Given the description of an element on the screen output the (x, y) to click on. 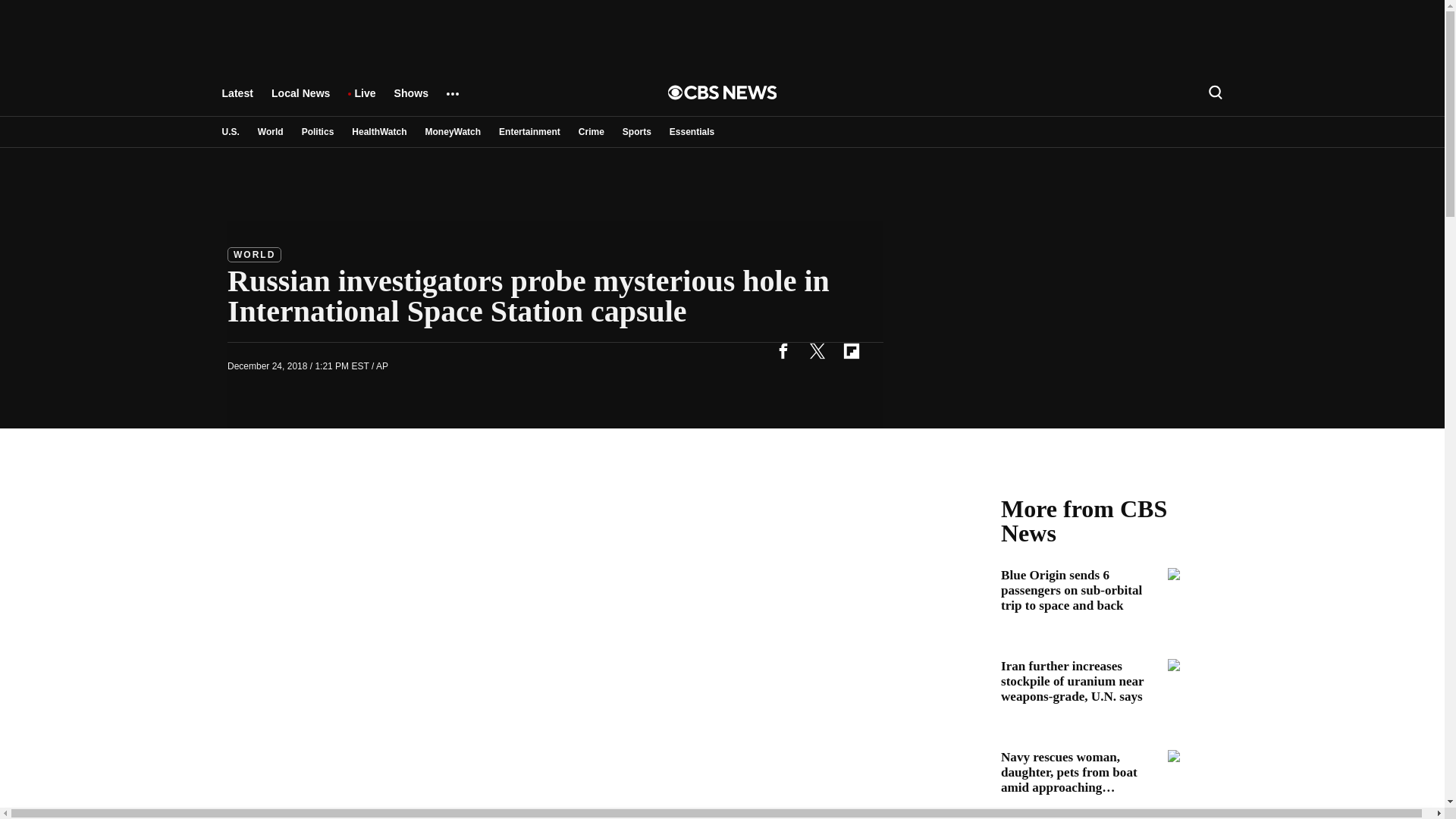
Latest (236, 100)
twitter (816, 350)
Local News (300, 100)
flipboard (850, 350)
facebook (782, 350)
